Given the description of an element on the screen output the (x, y) to click on. 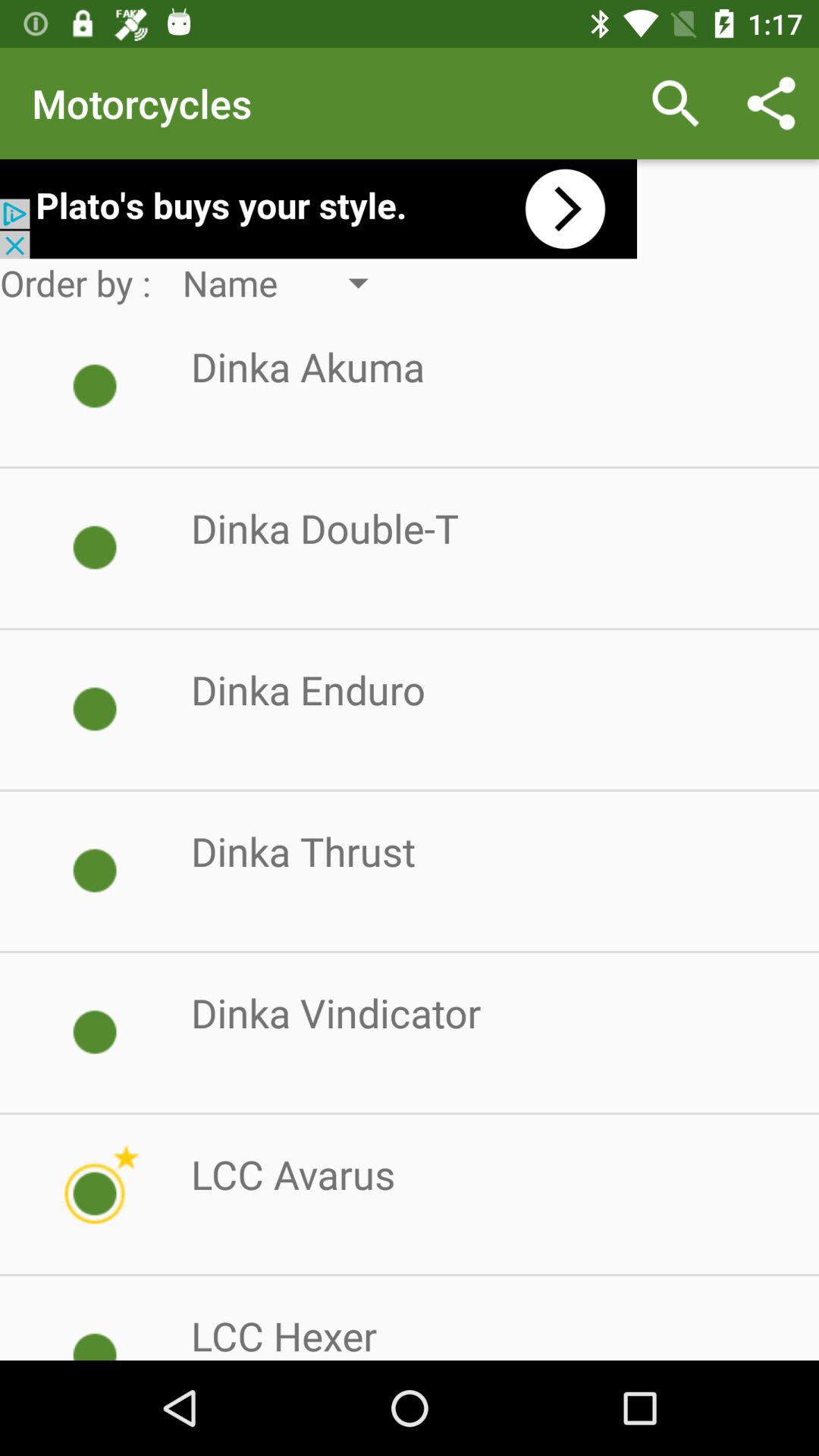
plato 's add (318, 208)
